Given the description of an element on the screen output the (x, y) to click on. 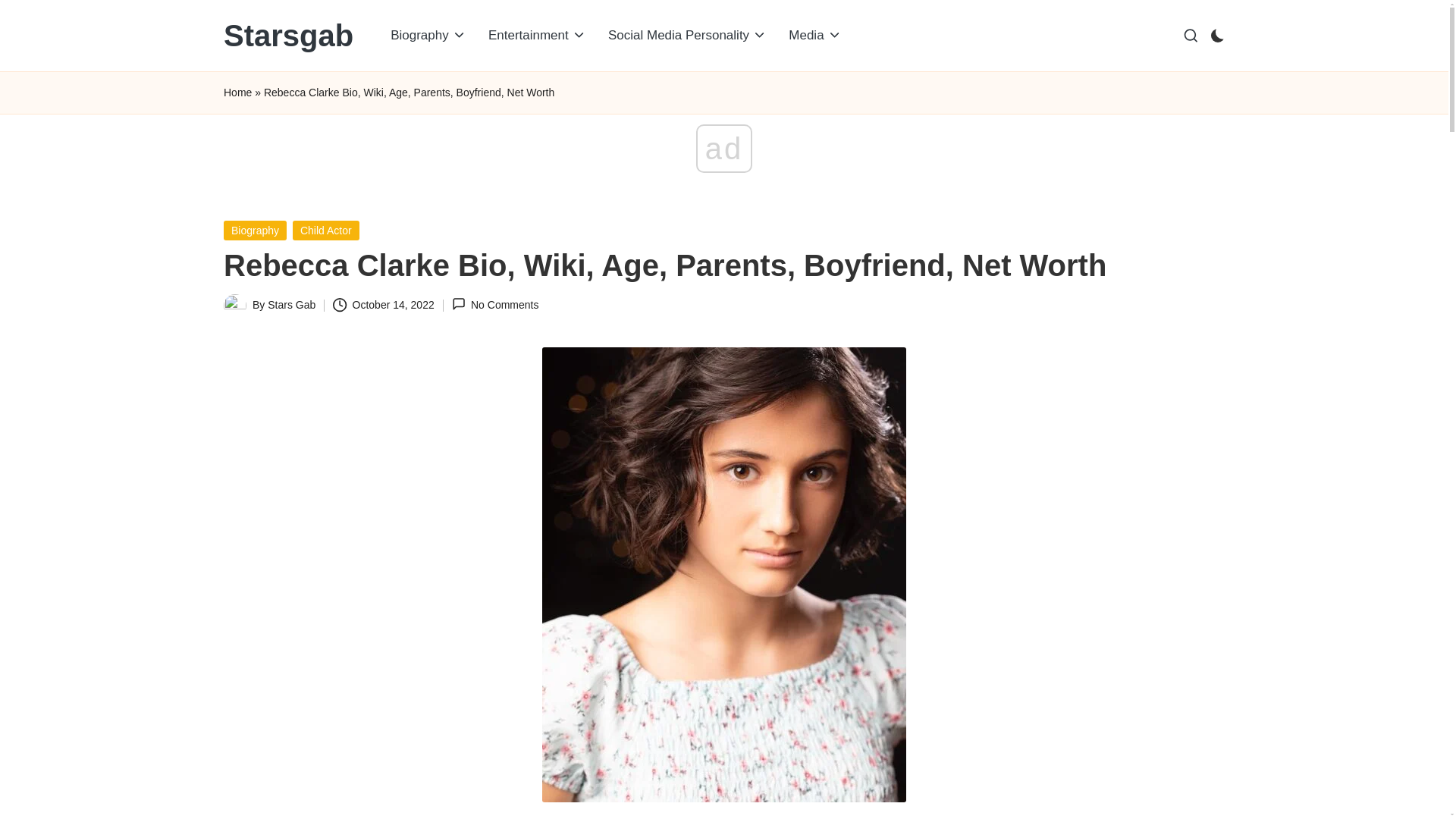
View all posts by Stars Gab (291, 304)
Entertainment (536, 35)
Starsgab (288, 35)
Biography (428, 35)
Social Media Personality (686, 35)
